Given the description of an element on the screen output the (x, y) to click on. 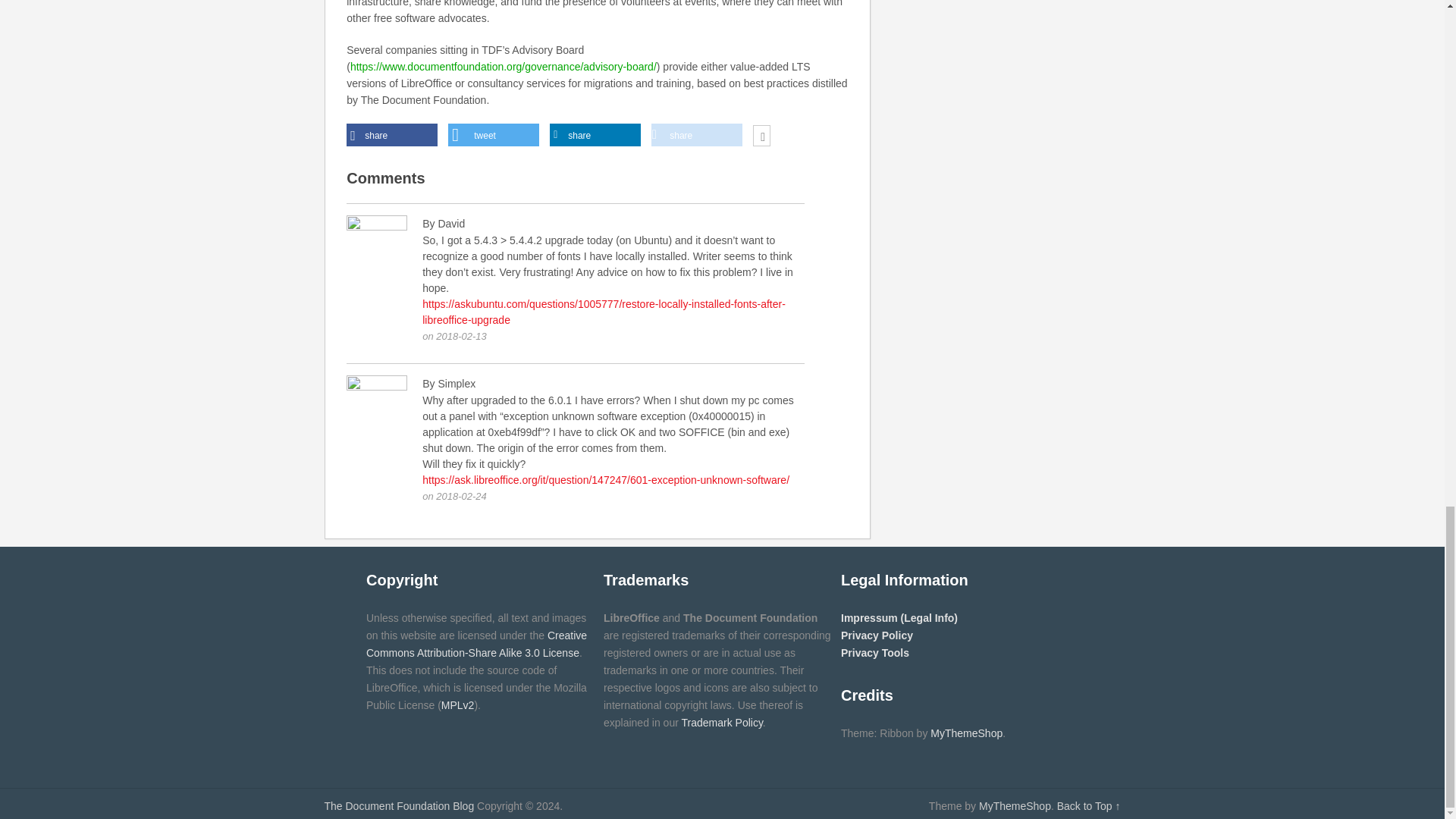
share (392, 135)
share (696, 135)
The home of LibreOffice (399, 806)
Share on Twitter (493, 135)
tweet (493, 135)
share (595, 135)
Share on Reddit (696, 135)
Share on Facebook (392, 135)
Share on LinkedIn (595, 135)
